Given the description of an element on the screen output the (x, y) to click on. 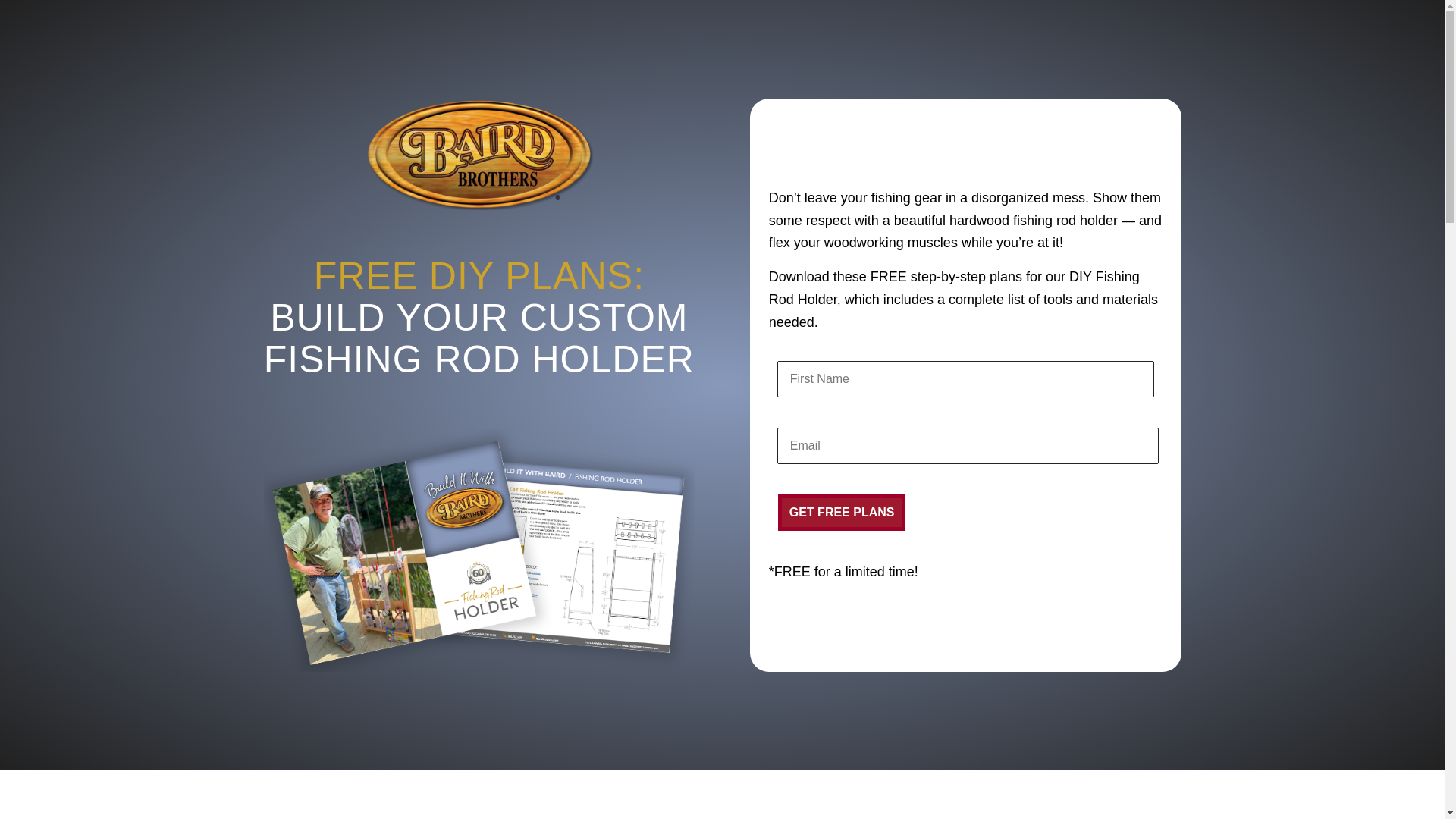
GET FREE PLANS (841, 512)
Submit (32, 12)
Fishing Rod Holder Content Offer (479, 550)
